Given the description of an element on the screen output the (x, y) to click on. 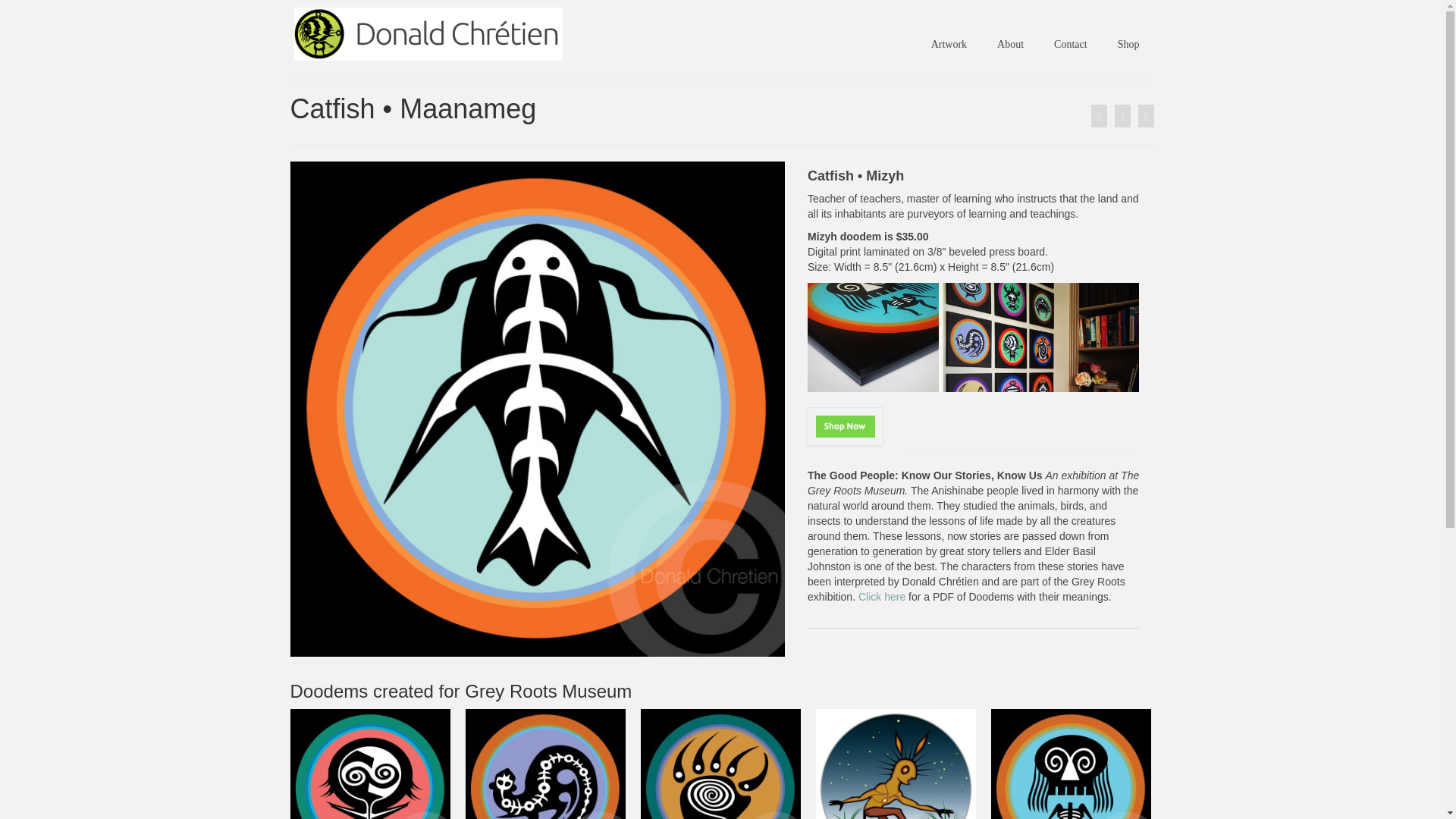
Click here (883, 596)
Contact (1070, 44)
Shop (1128, 44)
About (1010, 44)
Click here (883, 596)
Artwork (948, 44)
